Given the description of an element on the screen output the (x, y) to click on. 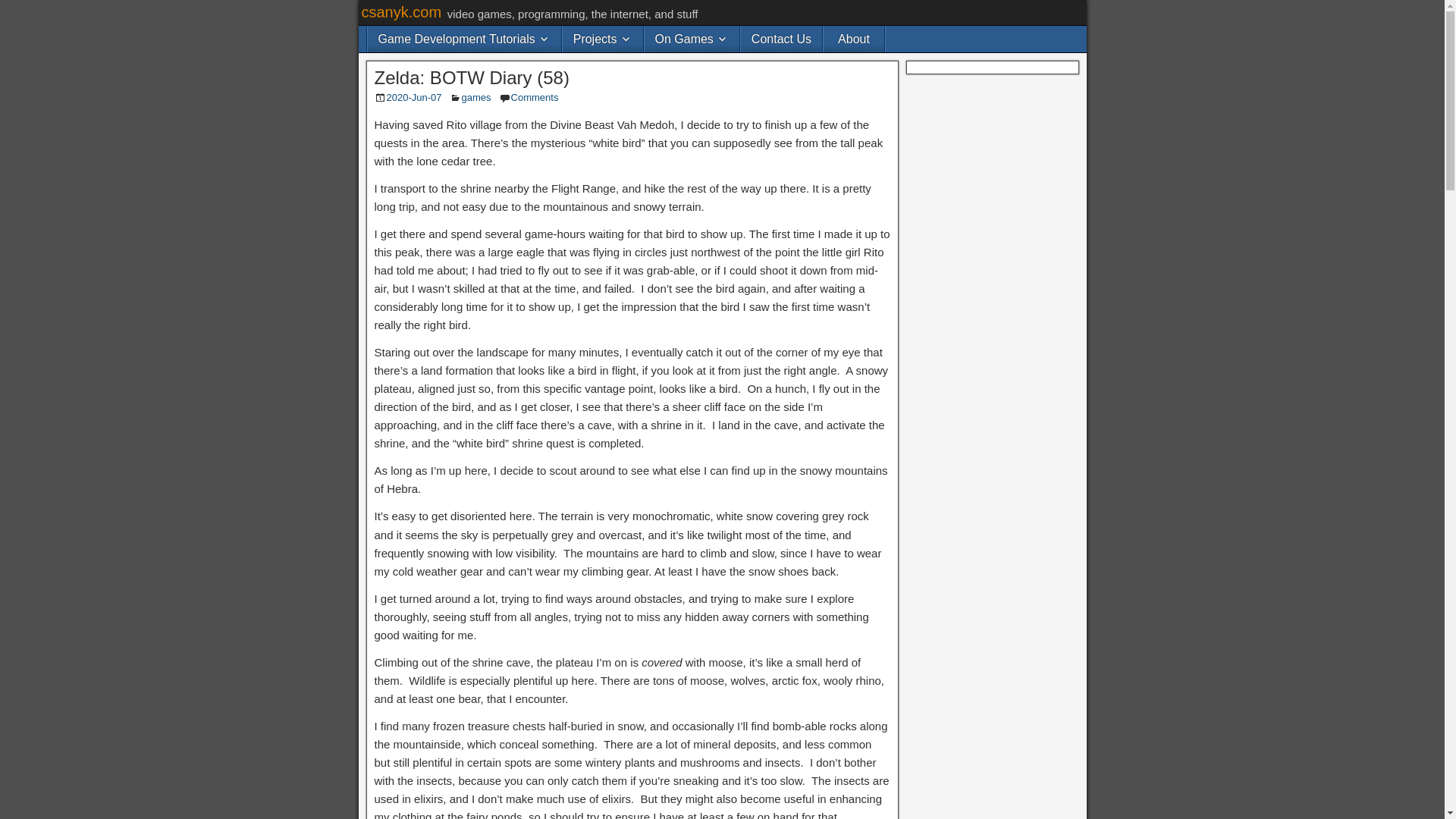
Game Development Tutorials (463, 38)
Projects (602, 38)
csanyk.com (401, 12)
